Given the description of an element on the screen output the (x, y) to click on. 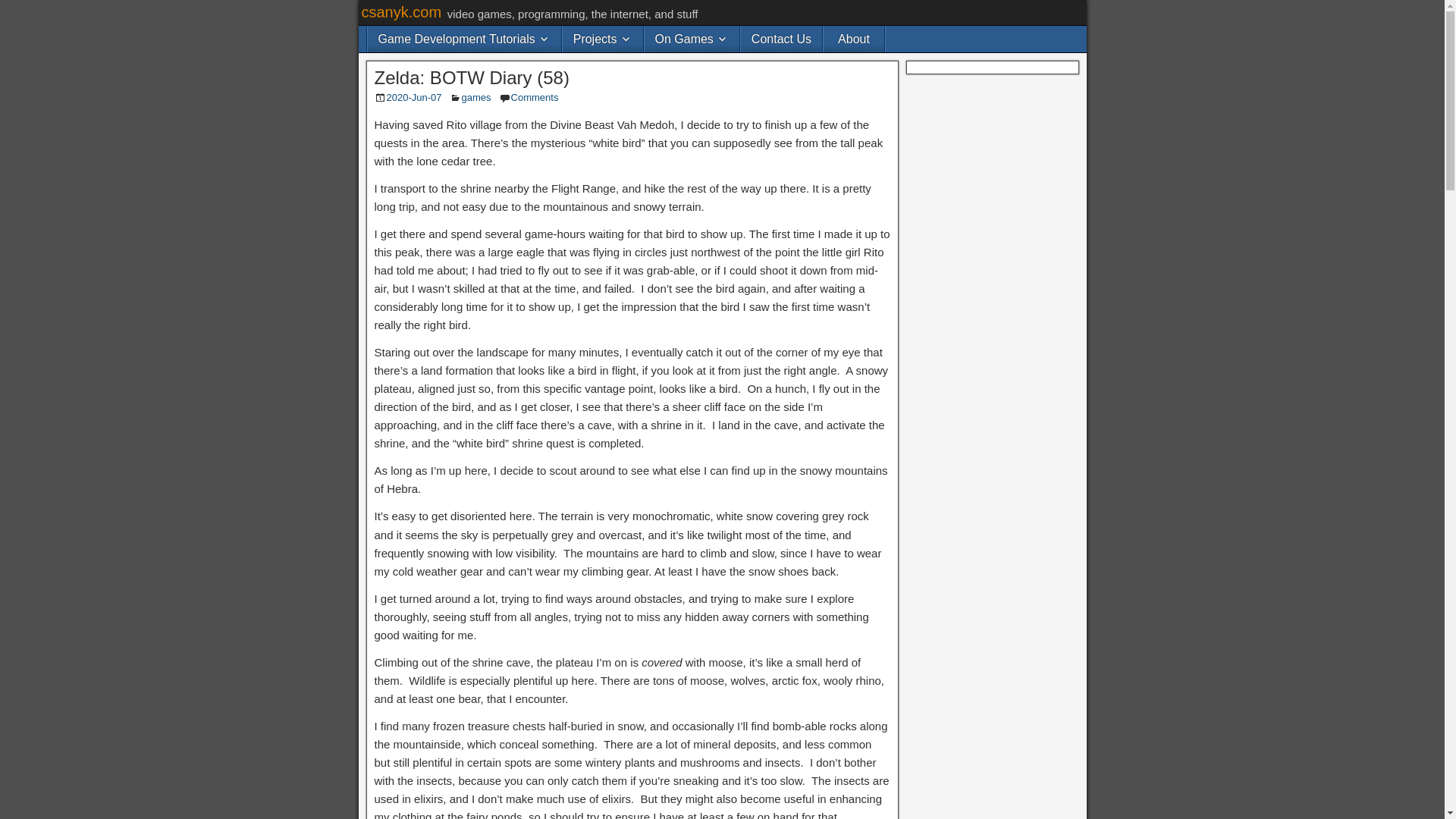
Game Development Tutorials (463, 38)
Projects (602, 38)
csanyk.com (401, 12)
